Given the description of an element on the screen output the (x, y) to click on. 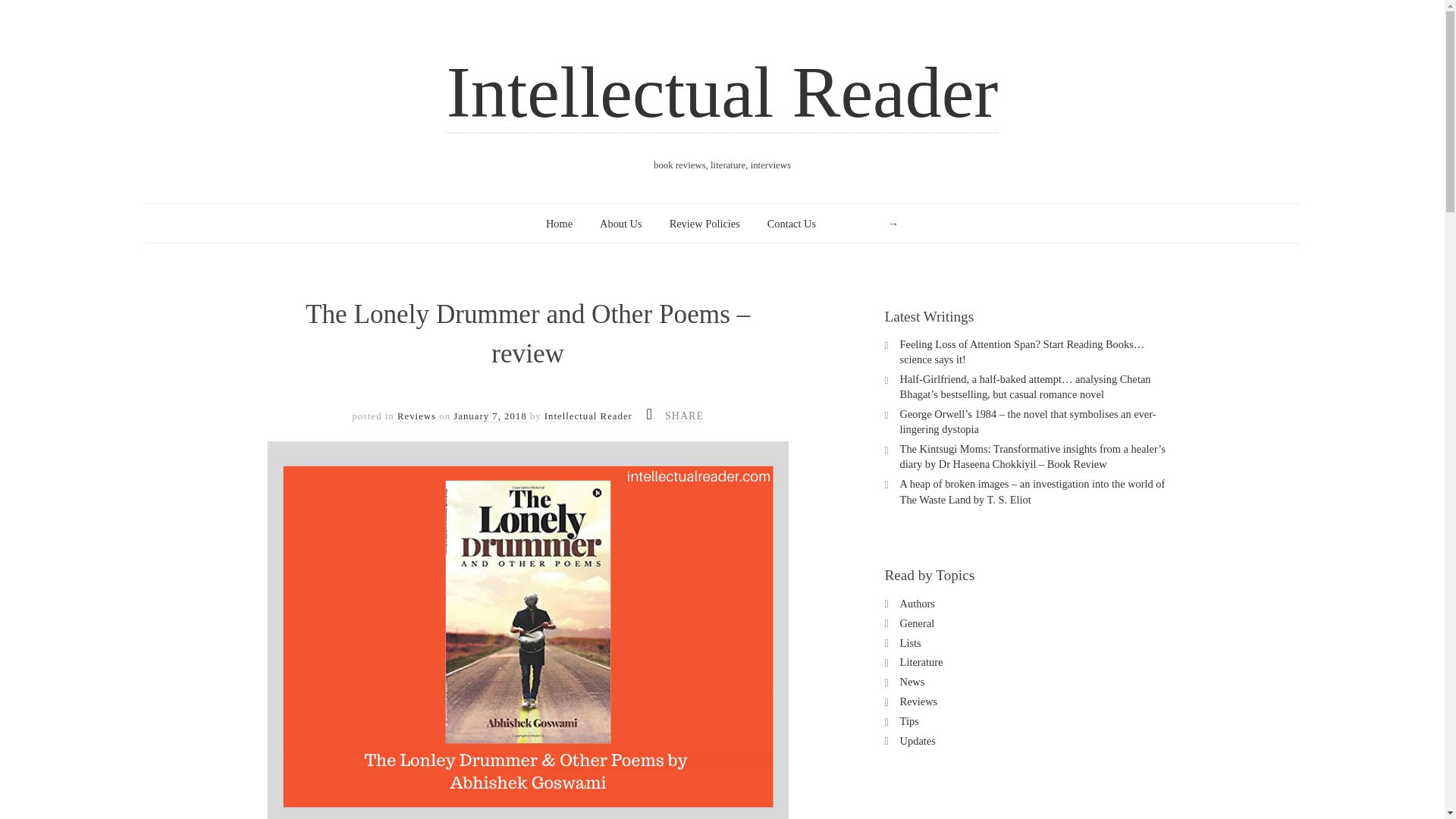
January 7, 2018 (488, 416)
SHARE (684, 416)
Home (559, 223)
Reviews (918, 701)
General (916, 623)
About Us (620, 223)
Intellectual Reader (722, 92)
Literature (921, 662)
4:26 pm (488, 416)
Contact Us (791, 223)
Intellectual Reader (587, 416)
Reviews (416, 416)
News (911, 681)
Lists (910, 643)
Updates (917, 740)
